Given the description of an element on the screen output the (x, y) to click on. 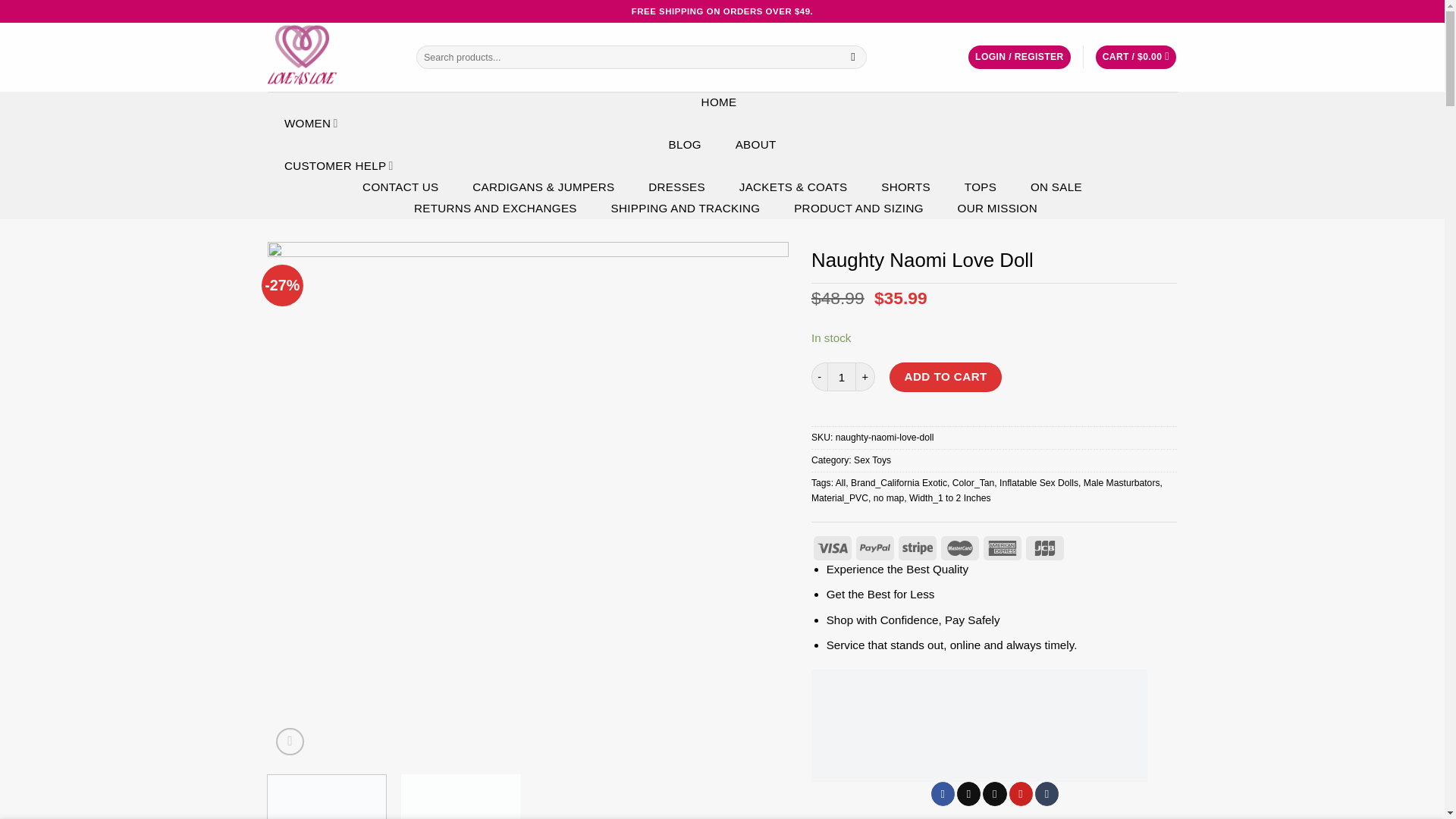
DRESSES (677, 187)
ON SALE (1056, 187)
WOMEN (312, 123)
Share on Facebook (943, 793)
PRODUCT AND SIZING (858, 208)
Login (1019, 56)
SHORTS (905, 187)
CUSTOMER HELP (339, 165)
RETURNS AND EXCHANGES (496, 208)
HOME (718, 102)
BLOG (684, 144)
CONTACT US (400, 187)
ADD TO CART (945, 376)
ABOUT (755, 144)
Search (852, 56)
